Given the description of an element on the screen output the (x, y) to click on. 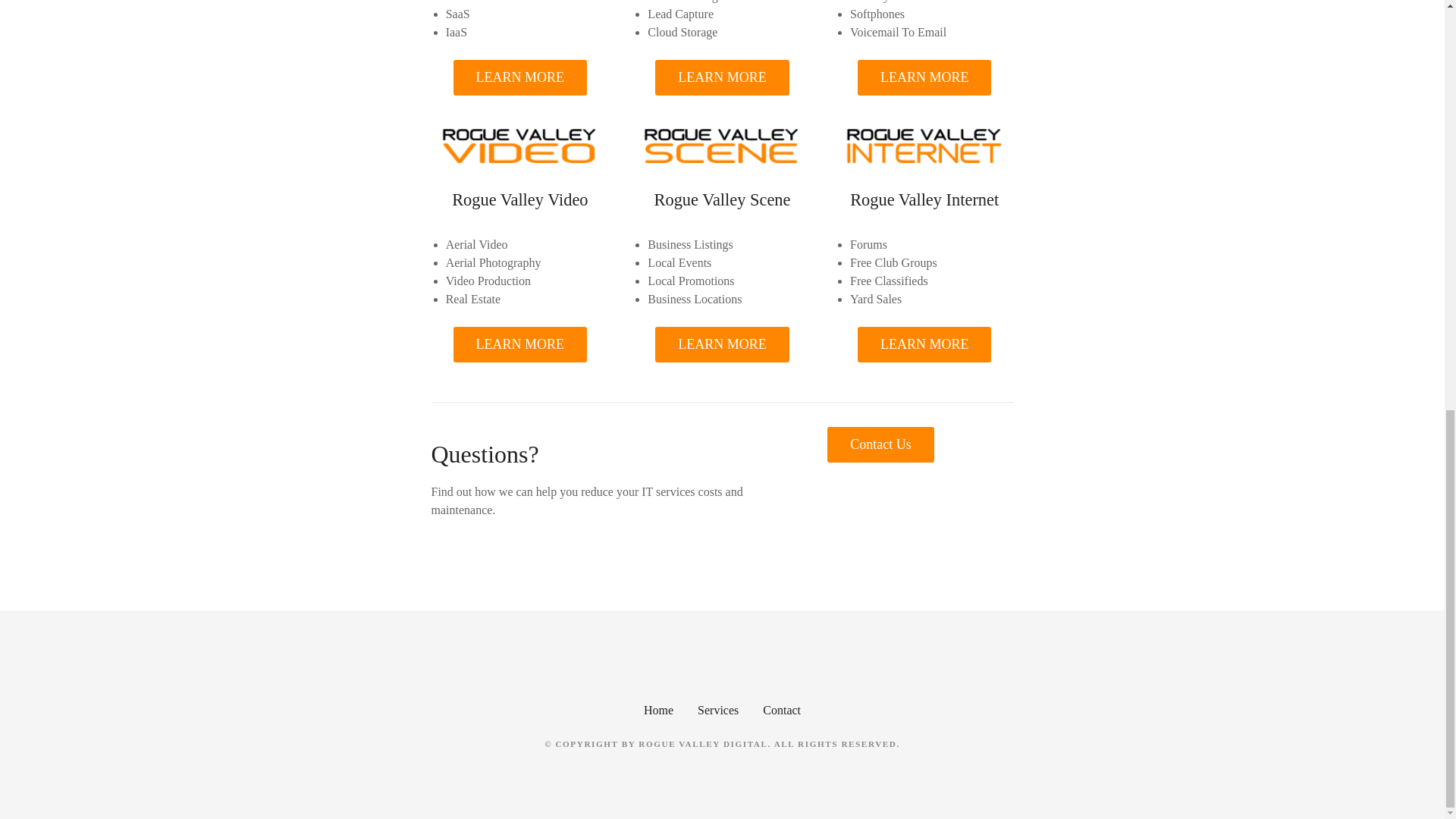
Home (657, 708)
Services (717, 708)
ROGUE VALLEY DIGITAL (703, 743)
Rogue Valley Scene (721, 199)
LEARN MORE (924, 344)
LEARN MORE (924, 77)
Rogue Valley Internet (924, 199)
LEARN MORE (722, 77)
Rogue Valley Video (519, 199)
Contact Us (880, 444)
LEARN MORE (722, 344)
LEARN MORE (520, 344)
Contact (781, 708)
LEARN MORE (520, 77)
